Given the description of an element on the screen output the (x, y) to click on. 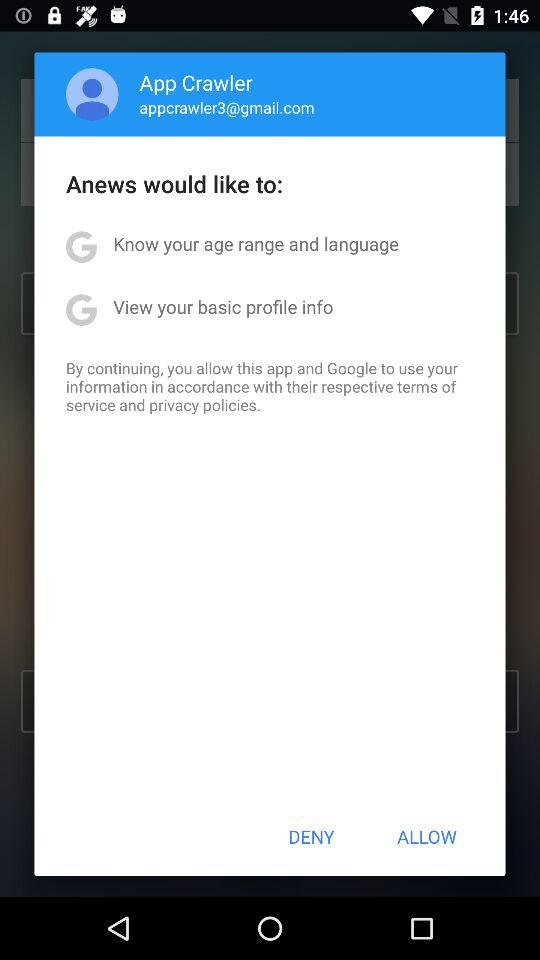
open the app below by continuing you item (311, 836)
